Given the description of an element on the screen output the (x, y) to click on. 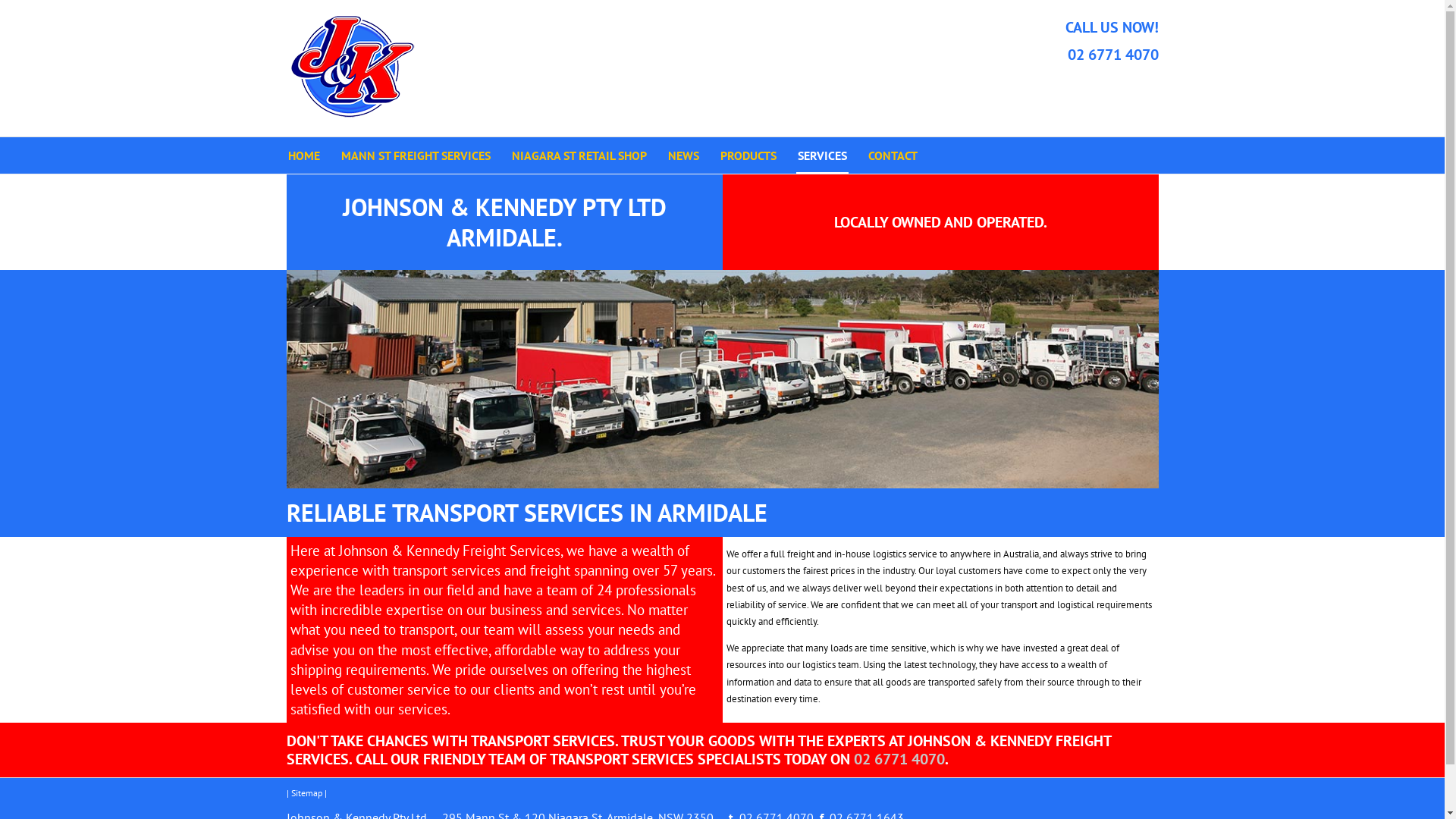
02 6771 4070 Element type: text (898, 758)
MANN ST FREIGHT SERVICES Element type: text (415, 155)
HOME Element type: text (303, 155)
NIAGARA ST RETAIL SHOP Element type: text (578, 155)
SERVICES Element type: text (822, 155)
02 6771 4070 Element type: text (1112, 54)
PRODUCTS Element type: text (748, 155)
CONTACT Element type: text (892, 155)
NEWS Element type: text (682, 155)
Sitemap Element type: text (306, 792)
